Given the description of an element on the screen output the (x, y) to click on. 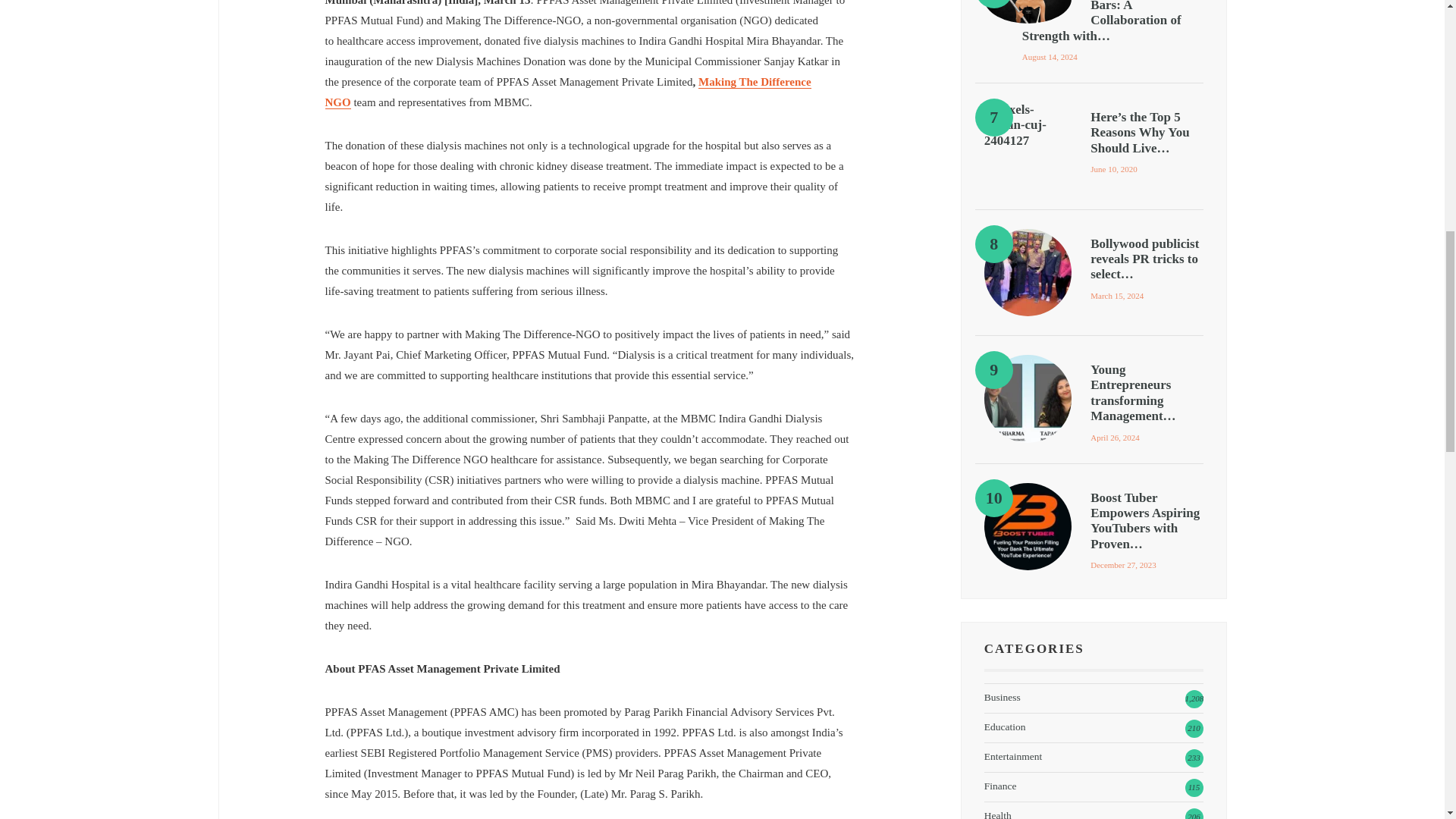
Here's the Top 5 Reasons Why You Should Live in Old Town (1027, 146)
Making The Difference NGO (567, 92)
